Given the description of an element on the screen output the (x, y) to click on. 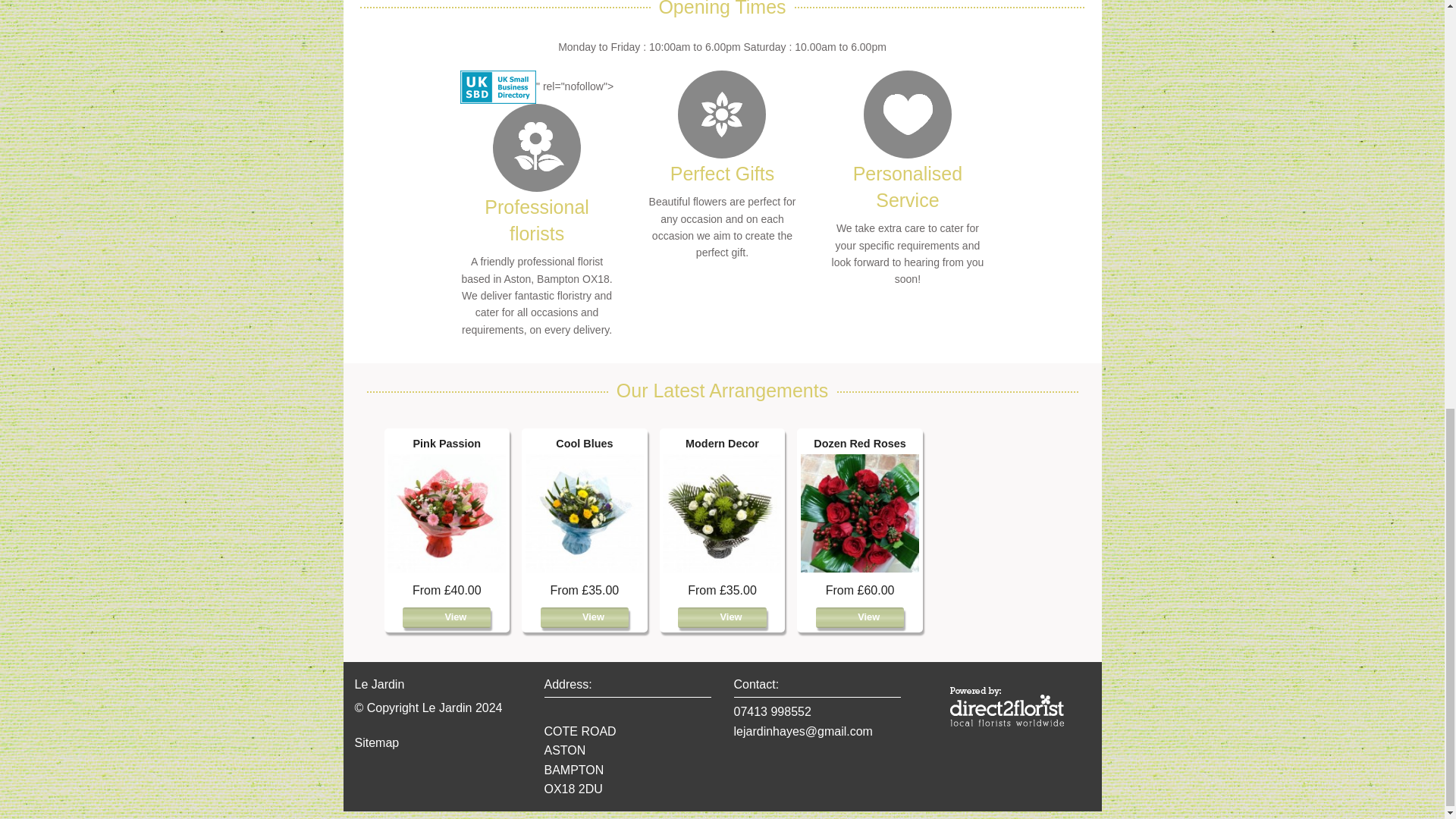
  View (446, 617)
  View (584, 617)
